Given the description of an element on the screen output the (x, y) to click on. 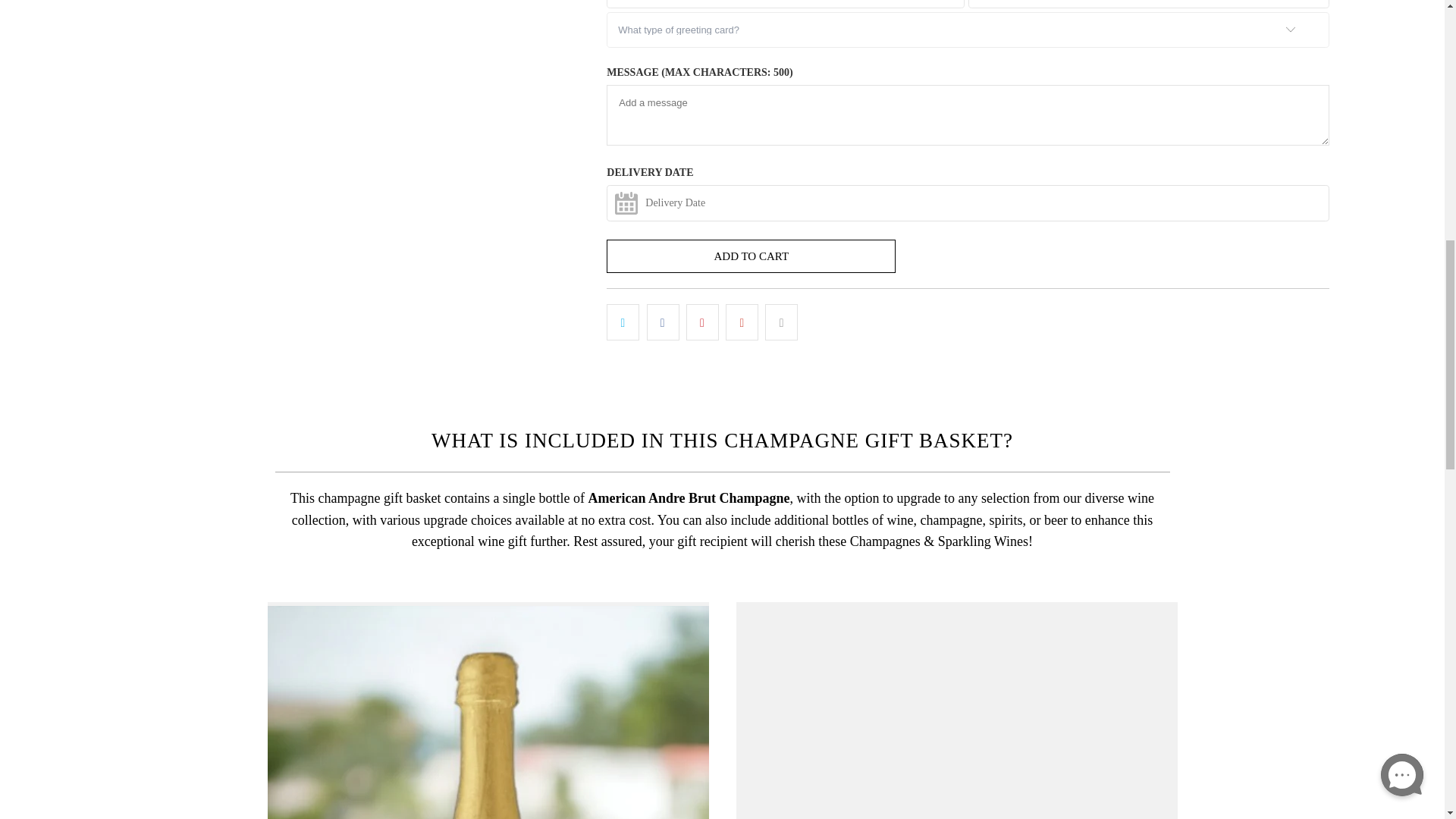
Email this to a friend (781, 321)
Share this on Twitter (623, 321)
American Andre Brut Champagne (486, 710)
Share this on Pinterest (702, 321)
Share this on Facebook (662, 321)
